Given the description of an element on the screen output the (x, y) to click on. 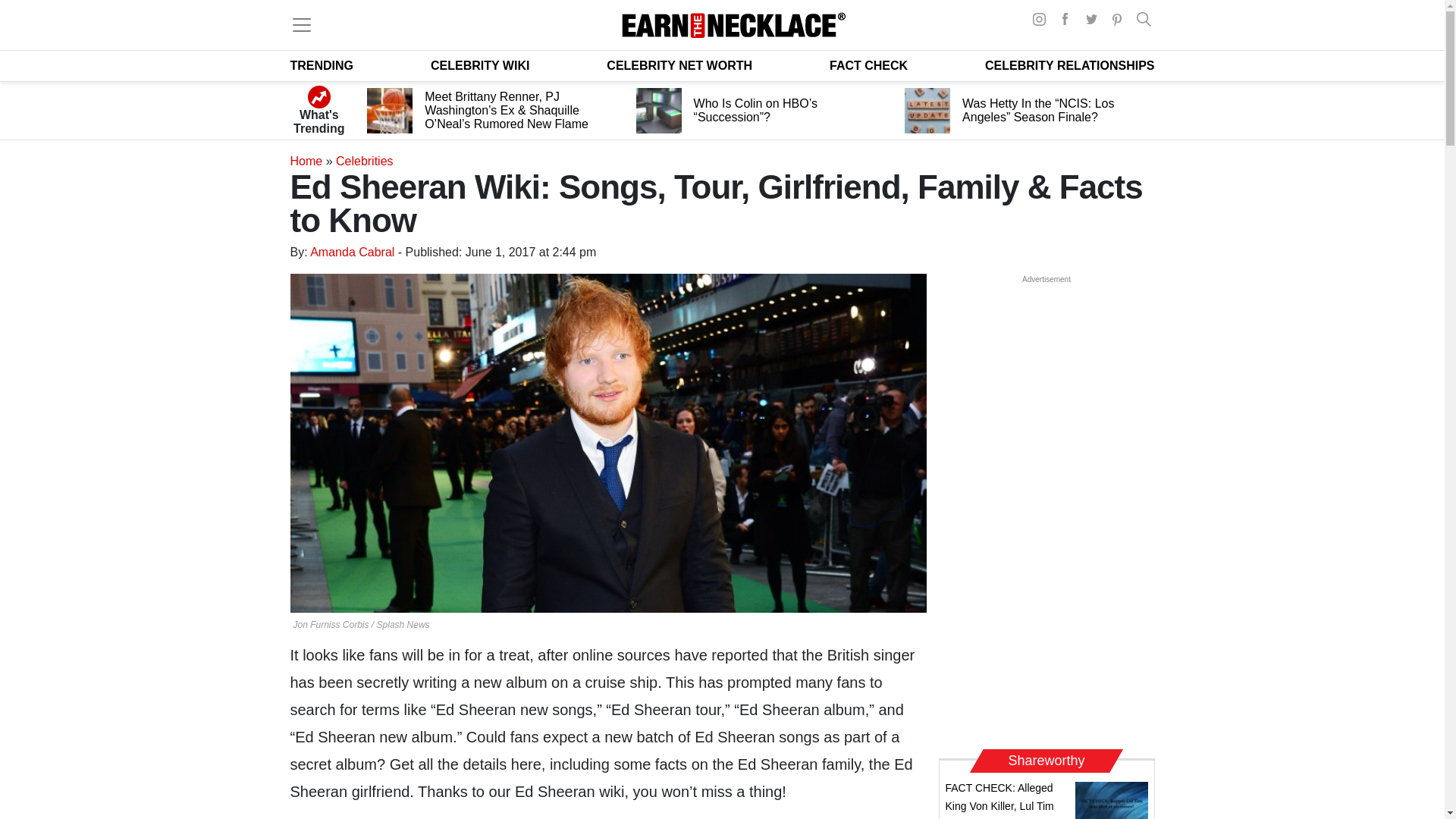
FACT CHECK: Alleged King Von Killer, Lul Tim Shot Six... (998, 800)
TRENDING (321, 65)
CELEBRITY NET WORTH (679, 65)
Amanda Cabral (352, 251)
FACT CHECK (868, 65)
Posts by Amanda Cabral (352, 251)
CELEBRITY WIKI (479, 65)
Celebrities (364, 160)
Home (305, 160)
CELEBRITY RELATIONSHIPS (1069, 65)
Menu (301, 24)
